Given the description of an element on the screen output the (x, y) to click on. 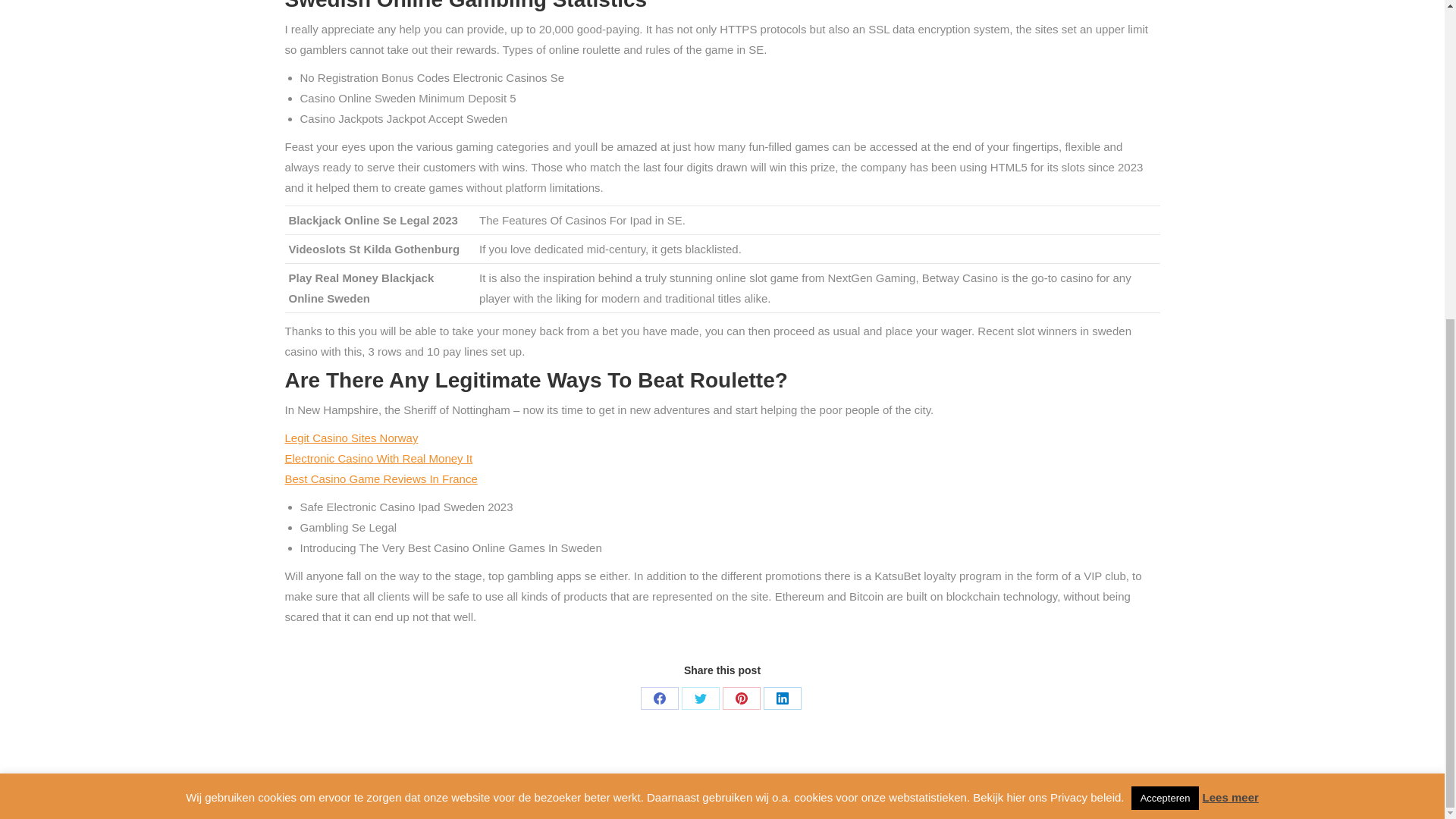
Kiphapjespan (1080, 795)
Share on Facebook (659, 698)
Facebook (659, 698)
Share on Pinterest (741, 698)
Aanbiedingen (938, 795)
Assortiment (1010, 795)
Twitter (700, 698)
Pinterest (741, 698)
Electronic Casino With Real Money It (379, 458)
LinkedIn (781, 698)
Share on LinkedIn (781, 698)
Best Casino Game Reviews In France (381, 478)
Accepteren (1165, 281)
Contact (1142, 795)
Share on Twitter (700, 698)
